Given the description of an element on the screen output the (x, y) to click on. 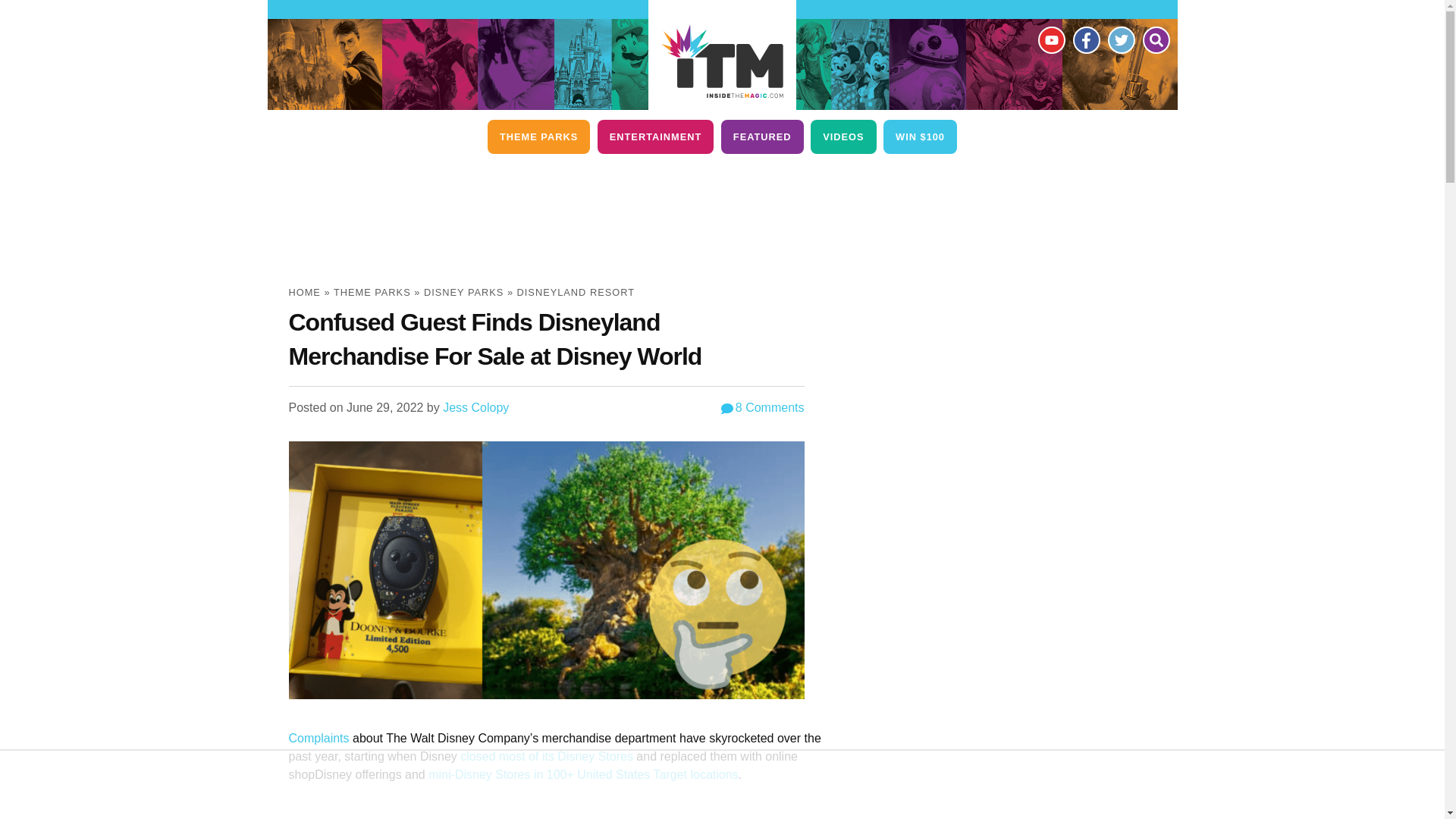
Facebook (1085, 40)
YouTube (1050, 40)
FEATURED (761, 136)
Search (1155, 40)
THEME PARKS (538, 136)
Twitter (1120, 40)
ENTERTAINMENT (655, 136)
